Given the description of an element on the screen output the (x, y) to click on. 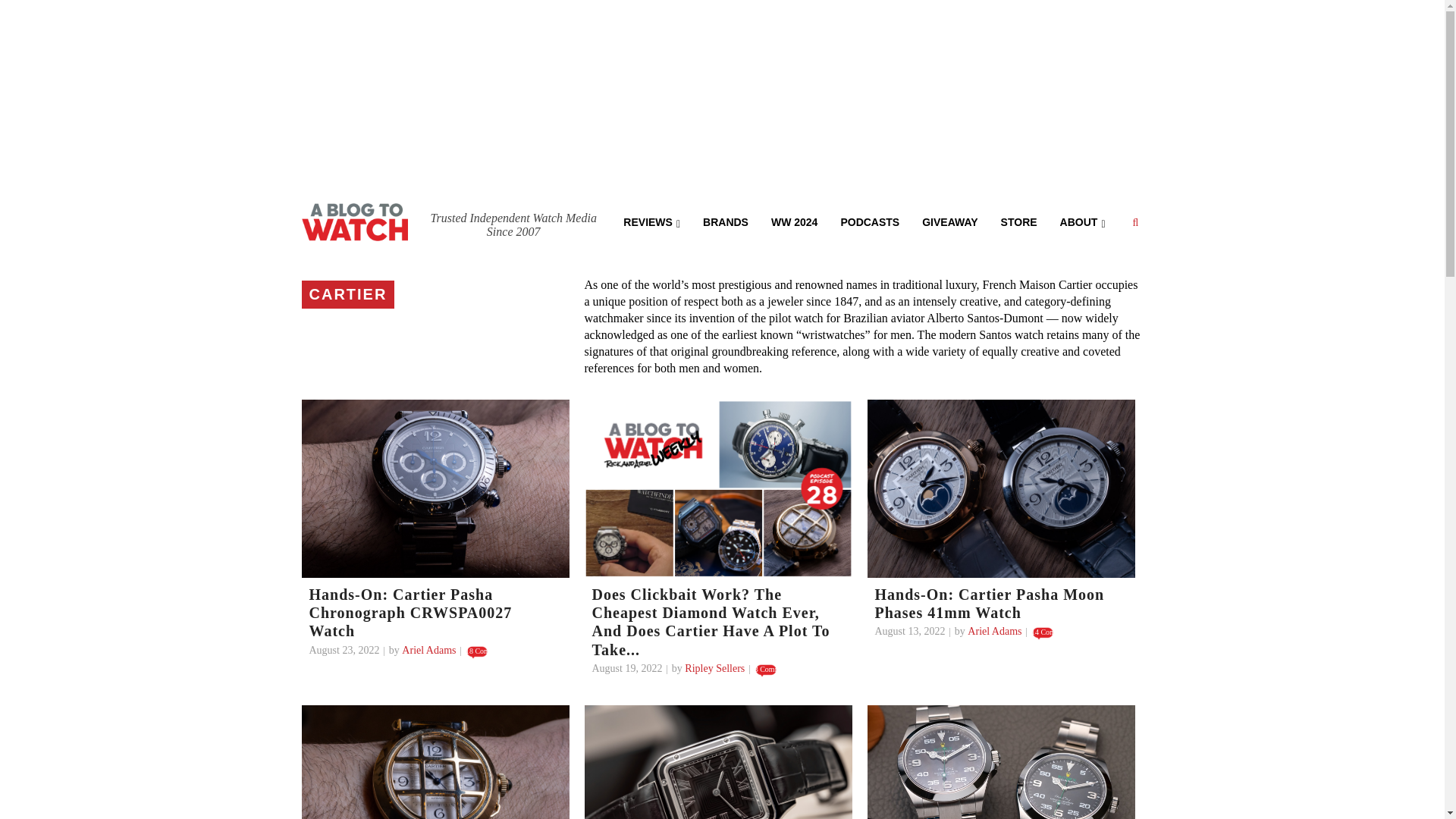
BRANDS (725, 221)
Hands-On: Cartier Pasha Chronograph CRWSPA0027 Watch (435, 488)
Guides to help you when buying watches (794, 221)
PODCASTS (869, 221)
Hands-On: Cartier Pasha With Removable Grille Watch (435, 762)
REVIEWS (651, 221)
Hands-On: Cartier Pasha Moon Phases 41mm Watch (990, 603)
ABOUT (1082, 221)
GIVEAWAY (949, 221)
Hands-On: Cartier Pasha Chronograph CRWSPA0027 Watch (410, 612)
STORE (1019, 221)
WW 2024 (794, 221)
Wrist Time Watch Reviews (651, 221)
Hands-On: Cartier Pasha Moon Phases 41mm Watch (1001, 488)
